Given the description of an element on the screen output the (x, y) to click on. 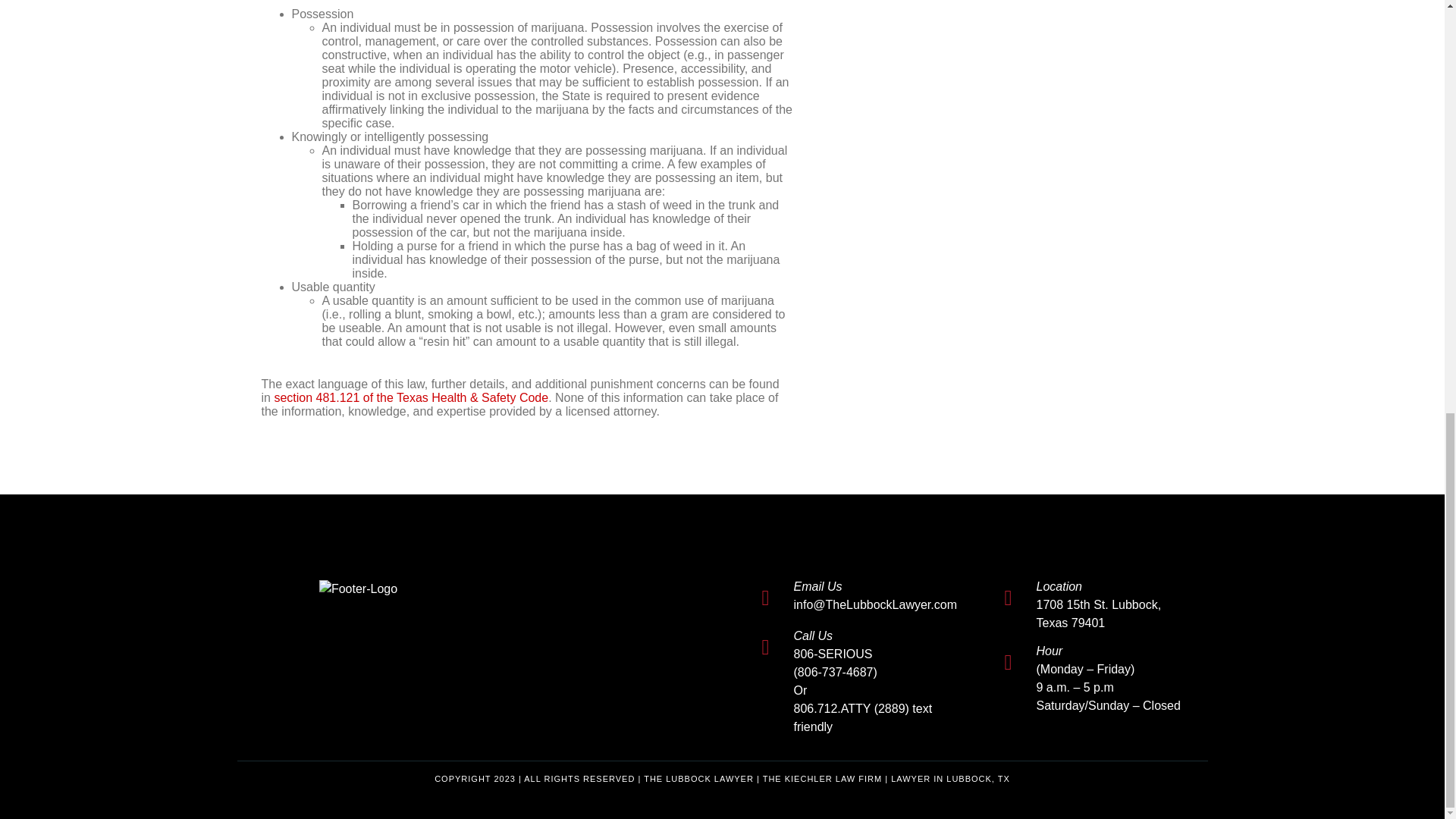
Call Us (812, 635)
Footer-Logo (357, 588)
Email Us (817, 585)
